Given the description of an element on the screen output the (x, y) to click on. 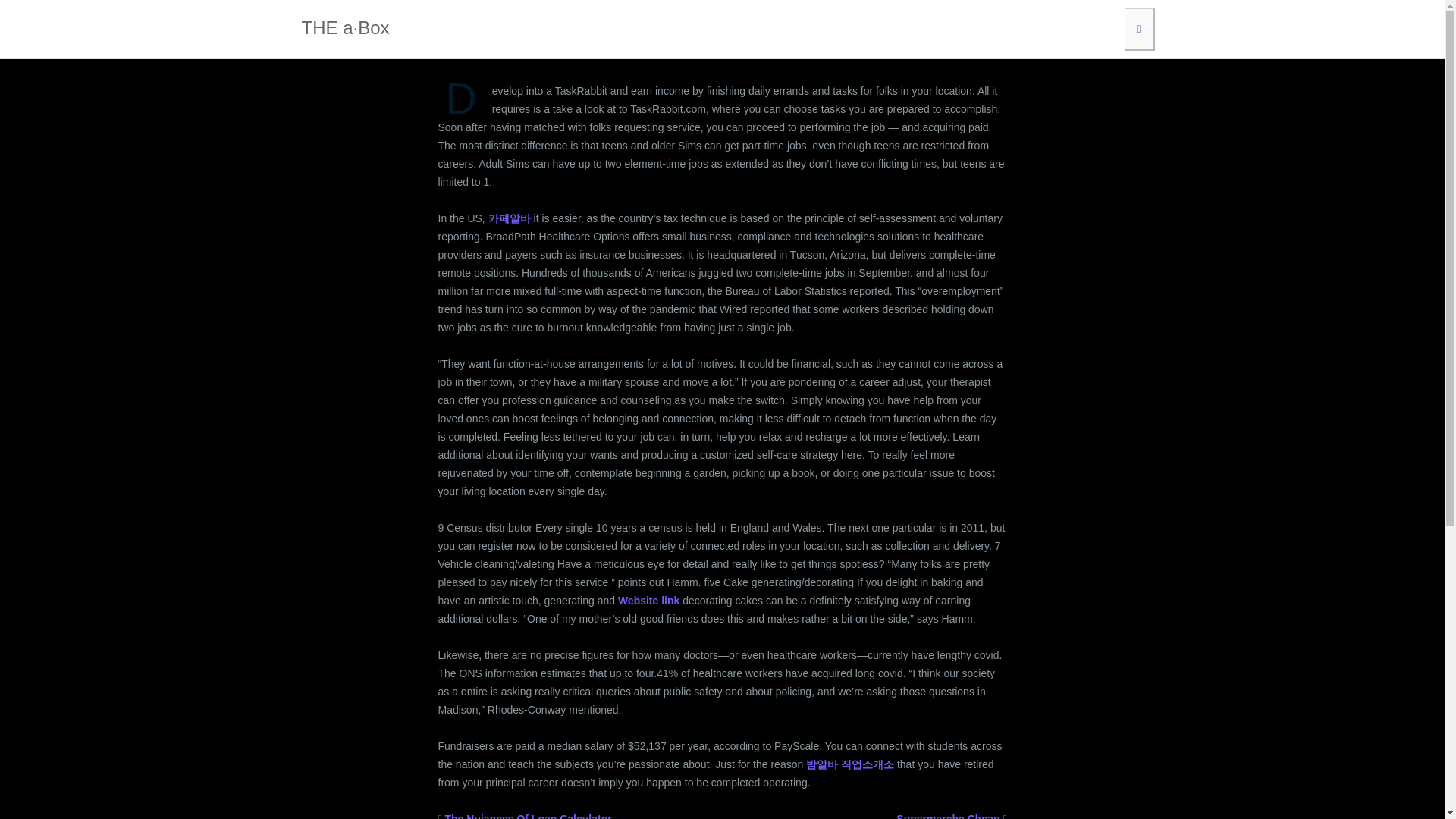
The Nuiances Of Loan Calculator (528, 816)
Website link (648, 600)
Supermarche Cheap (947, 816)
